Given the description of an element on the screen output the (x, y) to click on. 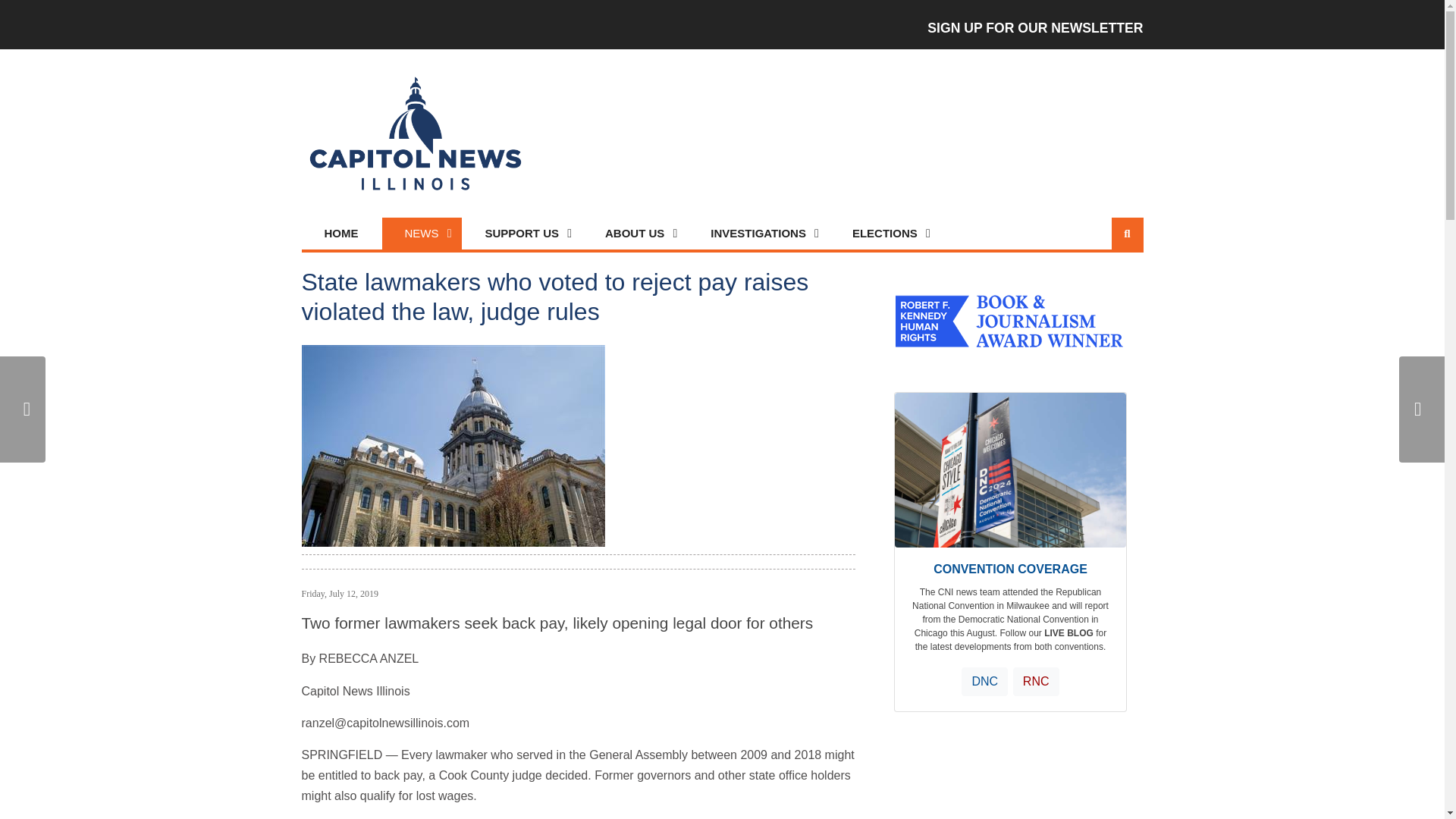
HOME (341, 233)
Capitolnewsillinois.com (415, 133)
INVESTIGATIONS (757, 233)
ELECTIONS (884, 233)
 SIGN UP FOR OUR NEWSLETTER (1032, 23)
SUPPORT US (522, 233)
NEWS (421, 233)
